Given the description of an element on the screen output the (x, y) to click on. 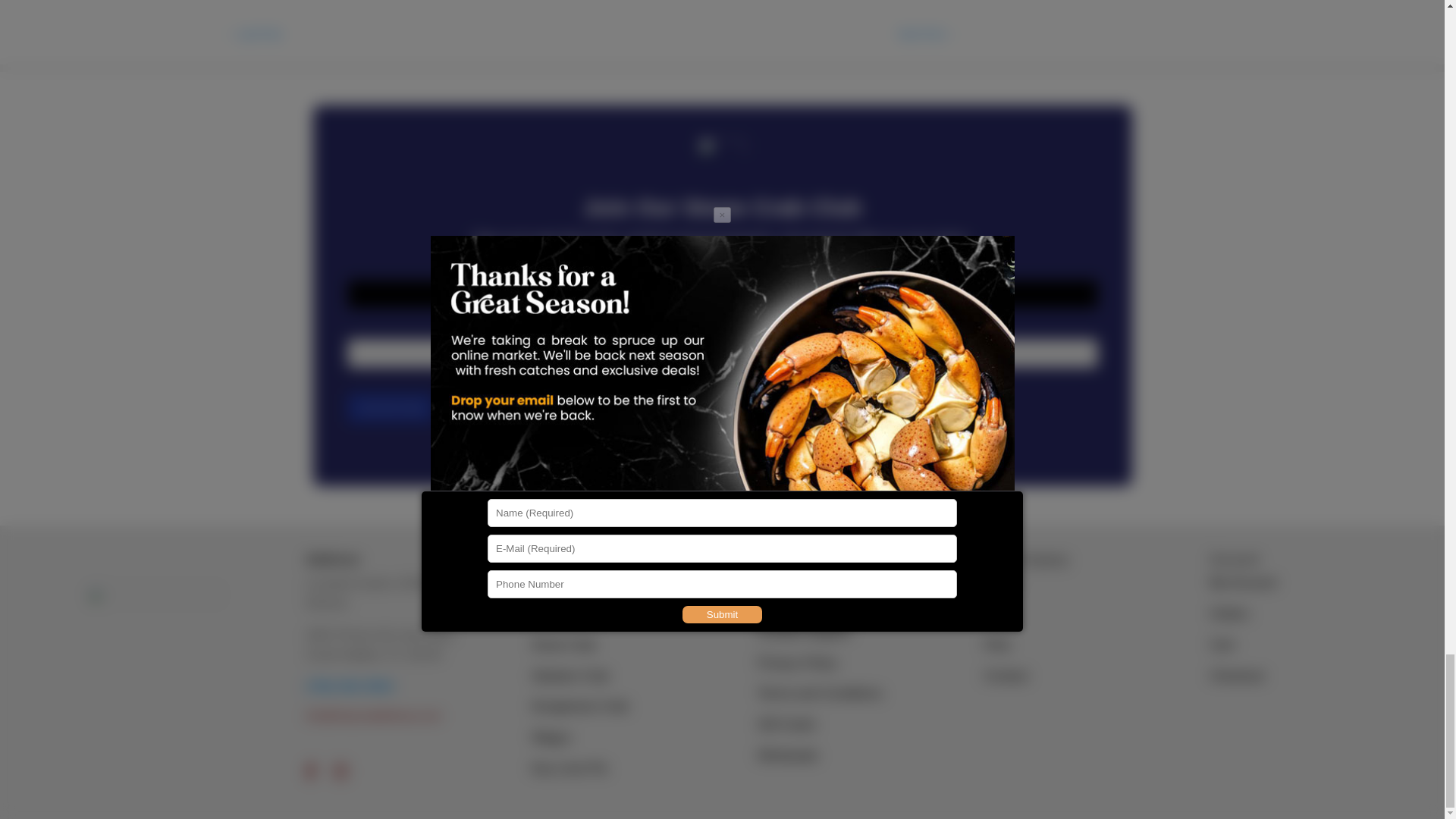
Join the Club (391, 407)
holy-crab-delivery-logo copy (156, 664)
